Given the description of an element on the screen output the (x, y) to click on. 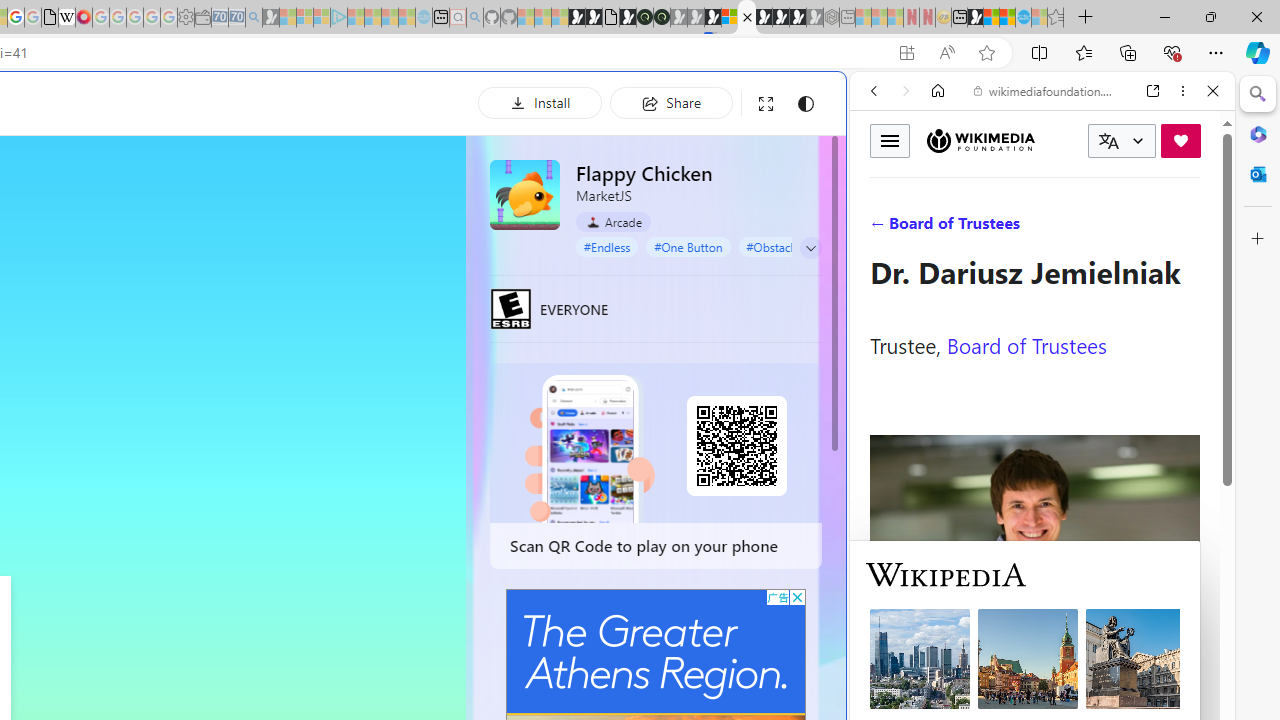
Wikimedia Foundation (980, 140)
Full screen (765, 103)
#Endless (607, 246)
Install (540, 102)
